Given the description of an element on the screen output the (x, y) to click on. 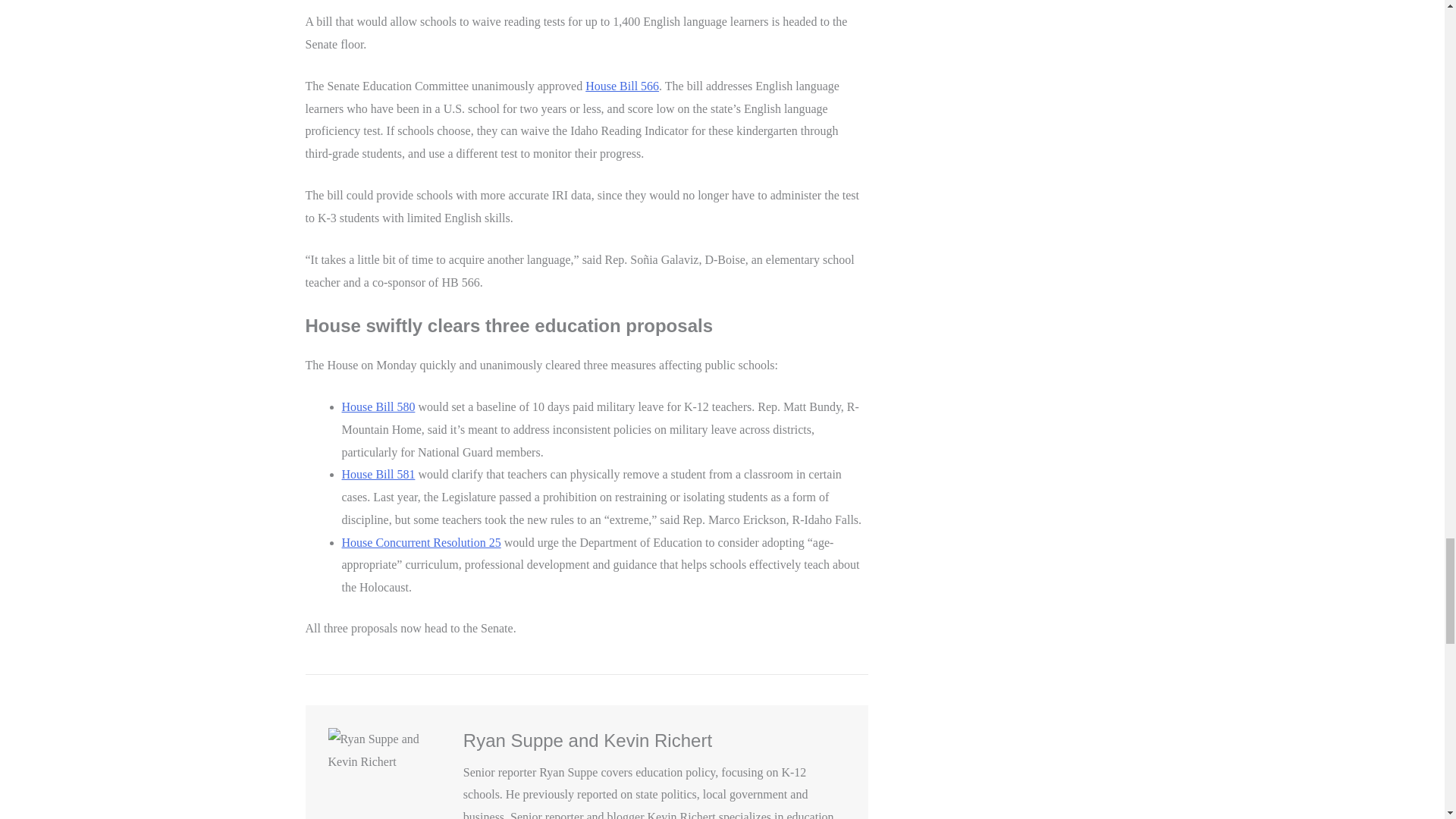
House Concurrent Resolution 25 (420, 542)
House Bill 581 (377, 473)
House Bill 580 (377, 406)
House Bill 566 (622, 85)
